Given the description of an element on the screen output the (x, y) to click on. 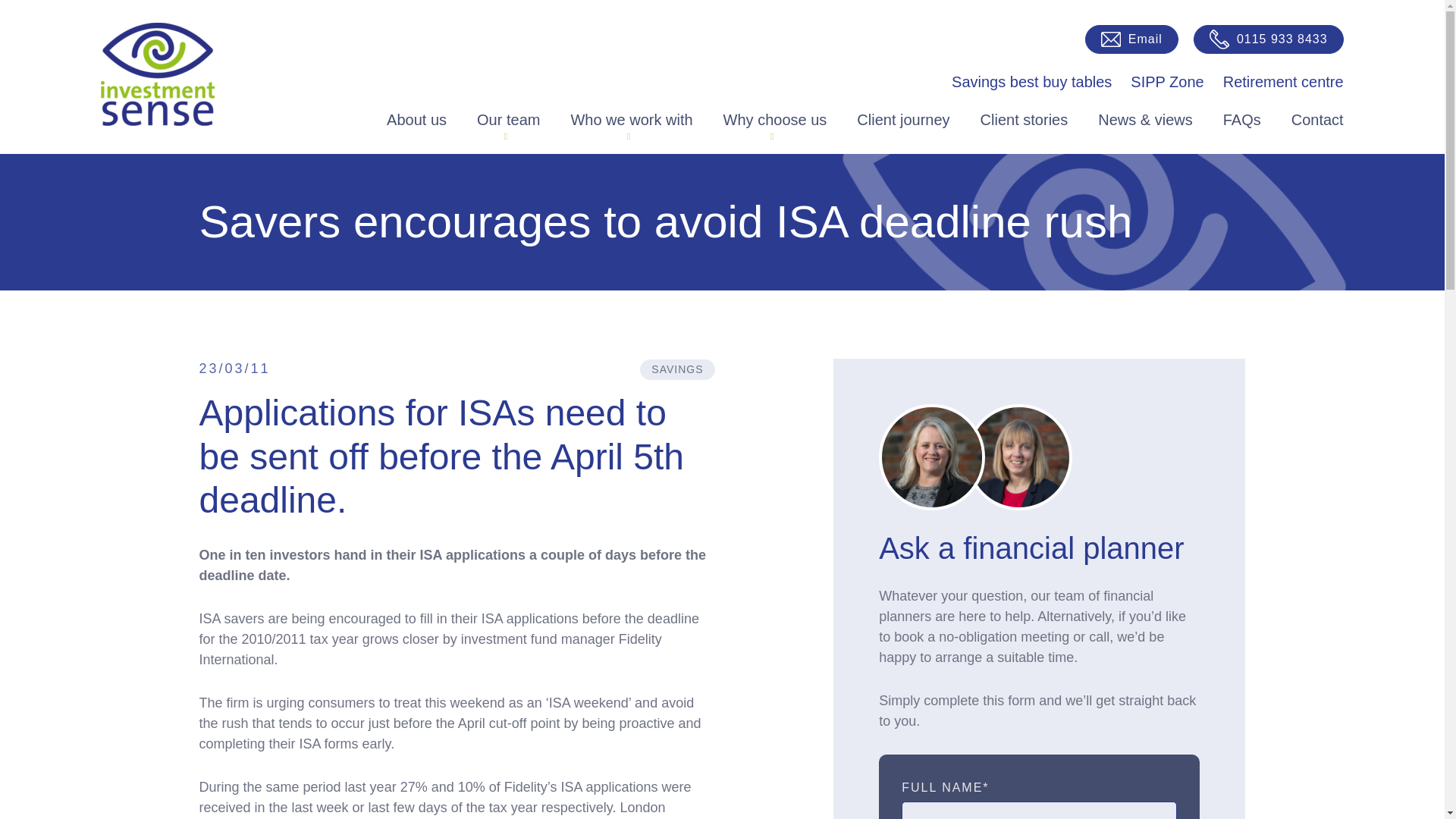
Who we work with (631, 119)
Email (1130, 39)
Retirement centre (1283, 81)
SIPP Zone (1167, 81)
Our team (508, 119)
0115 933 8433 (1268, 39)
Savings best buy tables (1032, 81)
About us (416, 119)
